Given the description of an element on the screen output the (x, y) to click on. 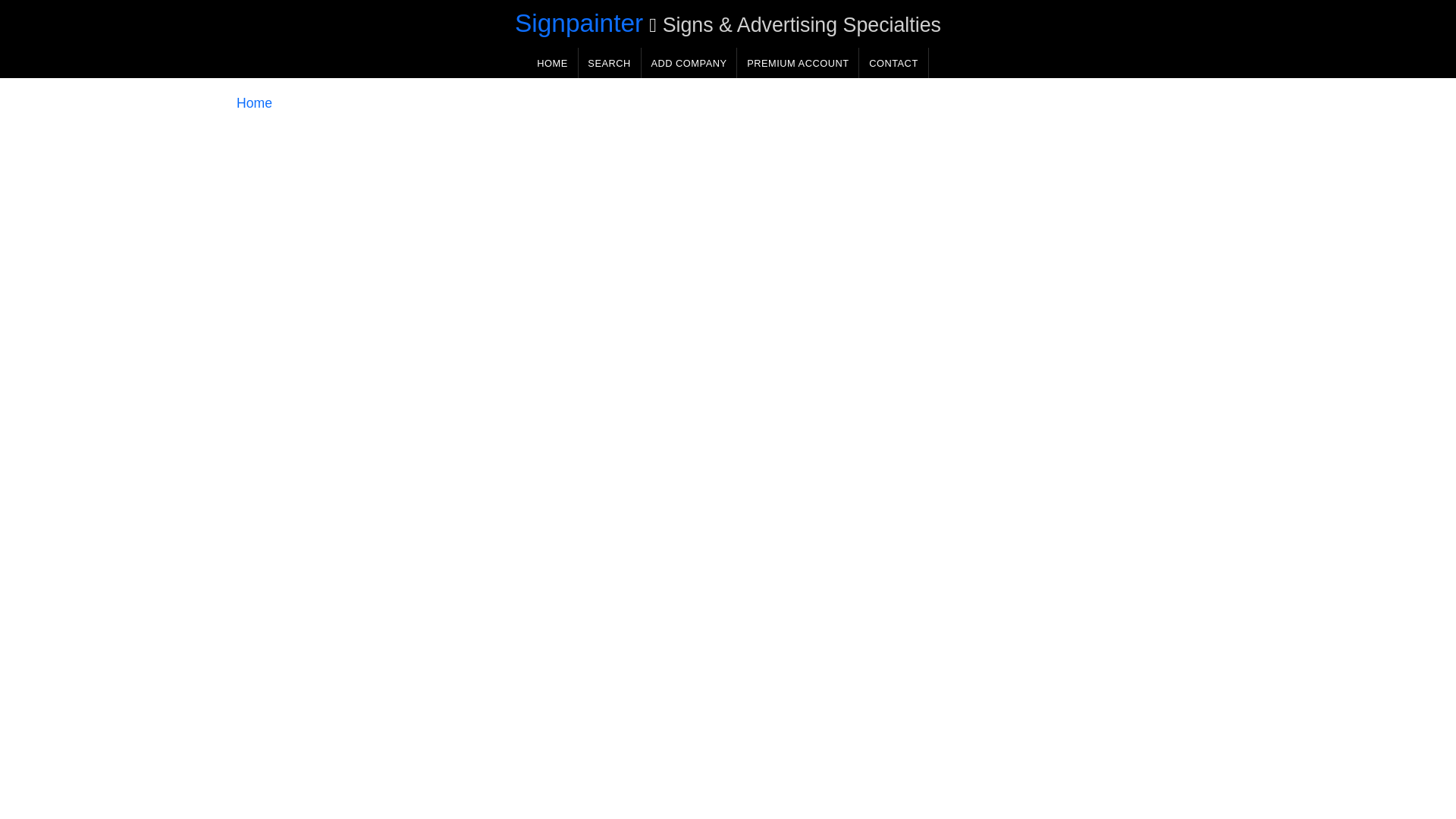
Add a new company (689, 62)
HOME (551, 62)
SEARCH (609, 62)
PREMIUM ACCOUNT (797, 62)
Home (253, 102)
CONTACT (893, 62)
Signpainter (579, 22)
Search in this webseite. (609, 62)
ADD COMPANY (689, 62)
